Given the description of an element on the screen output the (x, y) to click on. 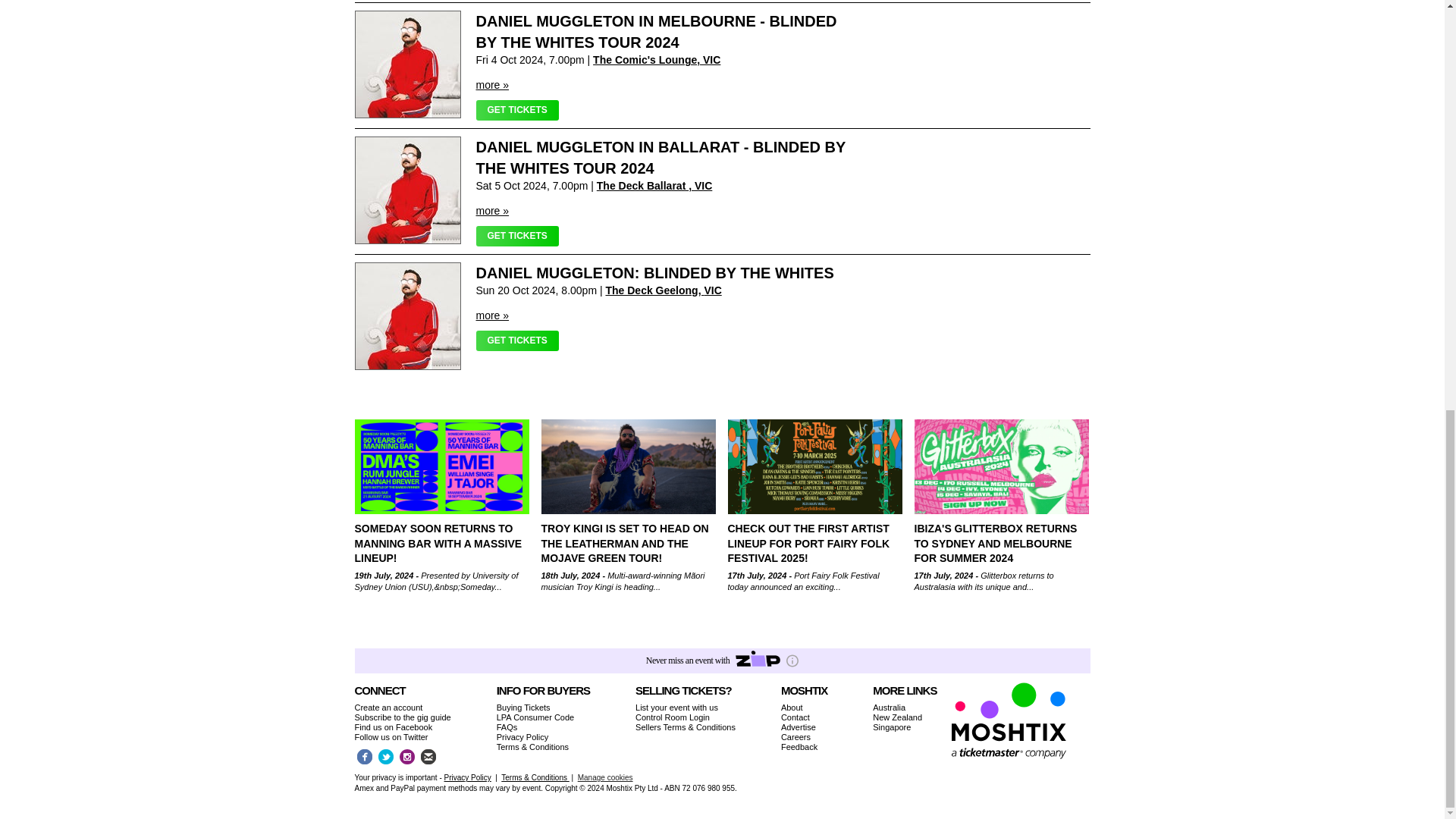
GET TICKETS (517, 236)
GET TICKETS (517, 109)
The Deck Ballarat , VIC (654, 185)
The Comic's Lounge, VIC (656, 60)
GET TICKETS (517, 340)
DANIEL MUGGLETON: BLINDED BY THE WHITES (655, 272)
The Deck Geelong, VIC (662, 290)
